Given the description of an element on the screen output the (x, y) to click on. 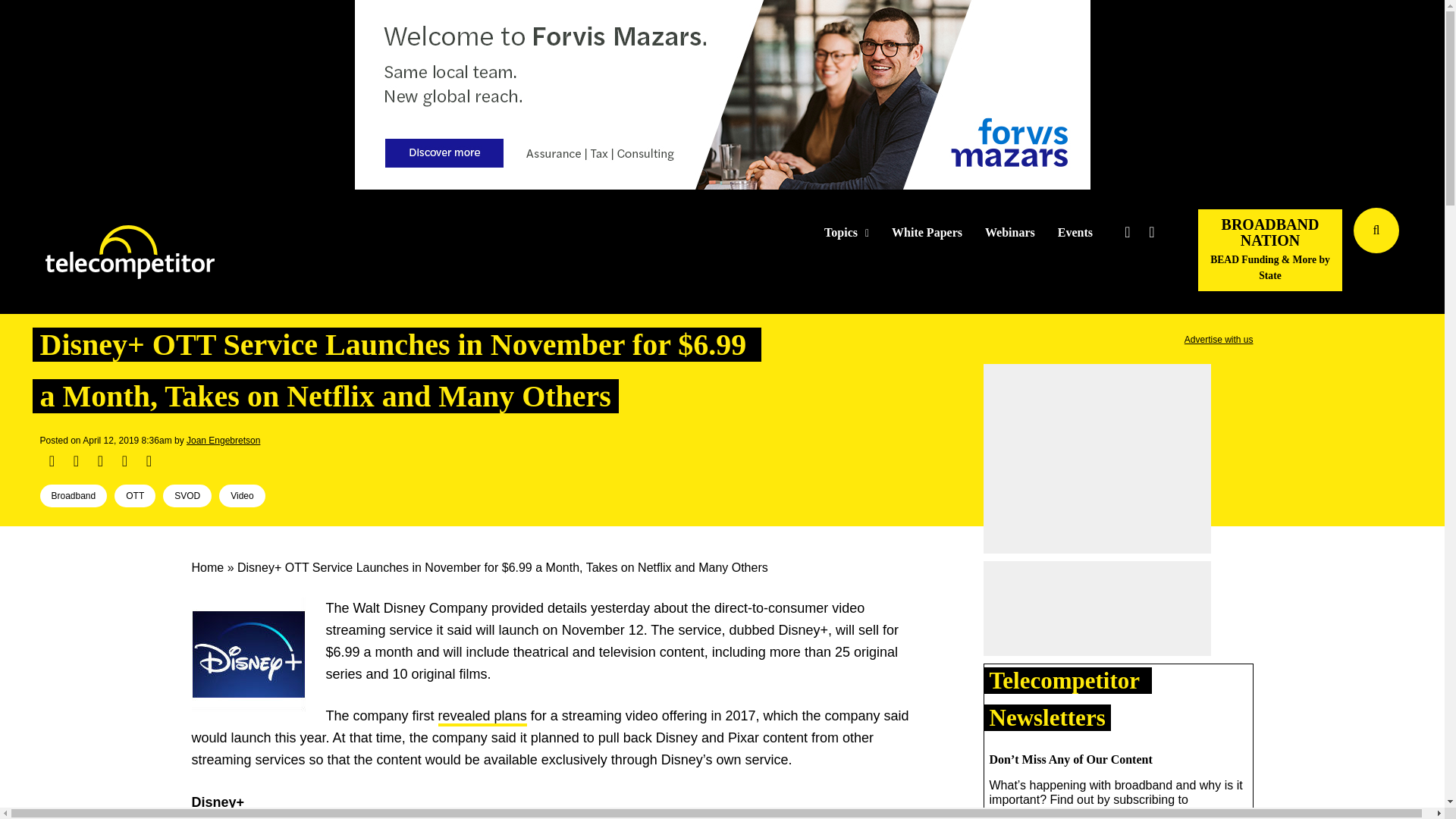
Pinterest (124, 460)
Share on Linked In (99, 460)
White Papers (927, 232)
Follow Us on Twitter (1127, 232)
Search telecompetitor.com (1376, 230)
Events (1074, 232)
Follow Us on LinkedIN (1151, 232)
Topics (846, 232)
Search (1430, 253)
Spread the word on Twitter (75, 460)
Webinars (1010, 232)
Share on Facebook (51, 460)
